Given the description of an element on the screen output the (x, y) to click on. 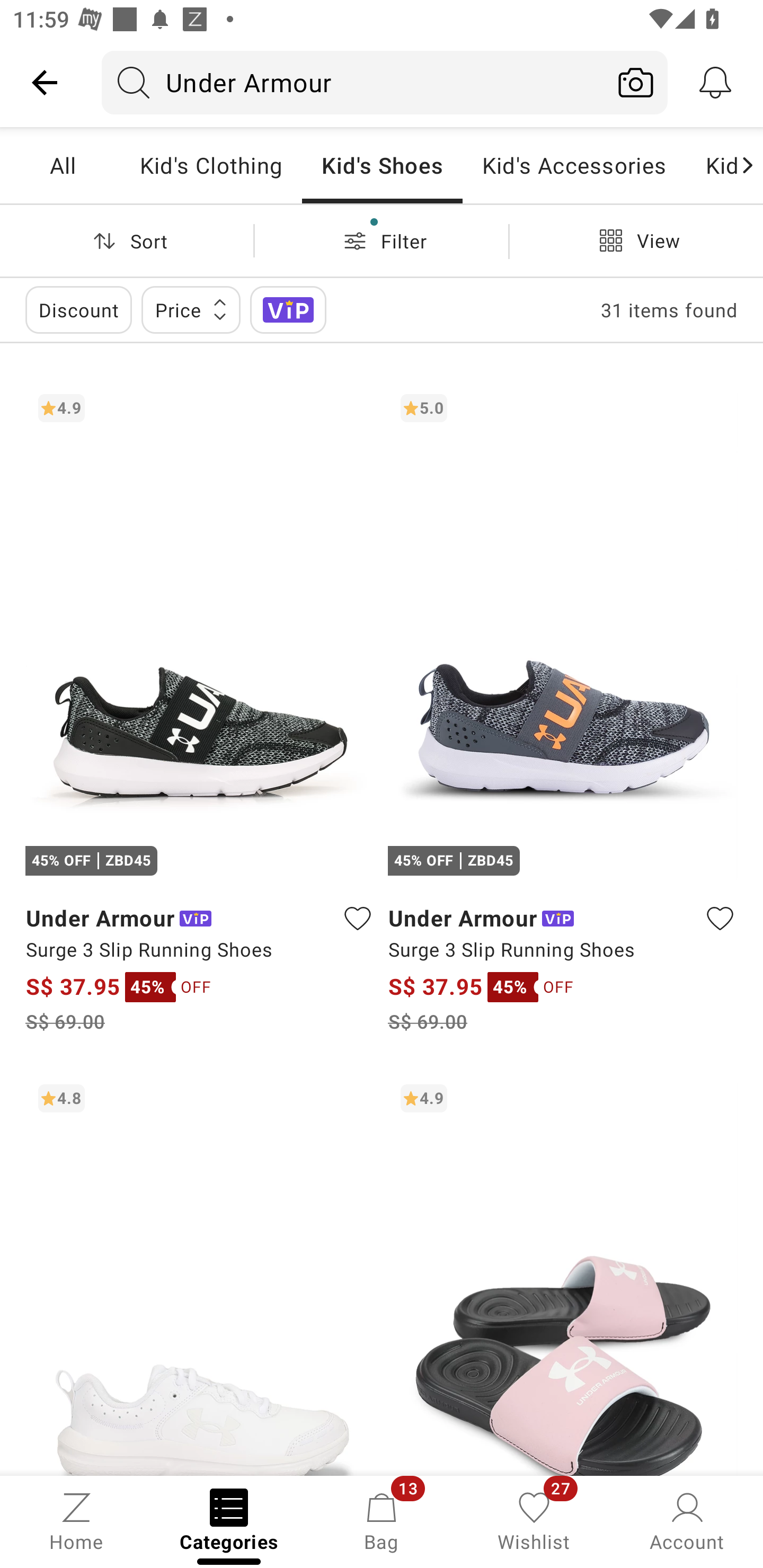
Navigate up (44, 82)
Under Armour (352, 82)
All (72, 165)
Kid's Clothing (211, 165)
Kid's Accessories (573, 165)
Sort (126, 240)
Filter (381, 240)
View (636, 240)
Discount (78, 309)
Price (190, 309)
4.8 (200, 1272)
4.9 (562, 1272)
Home (76, 1519)
Bag, 13 new notifications Bag (381, 1519)
Wishlist, 27 new notifications Wishlist (533, 1519)
Account (686, 1519)
